Given the description of an element on the screen output the (x, y) to click on. 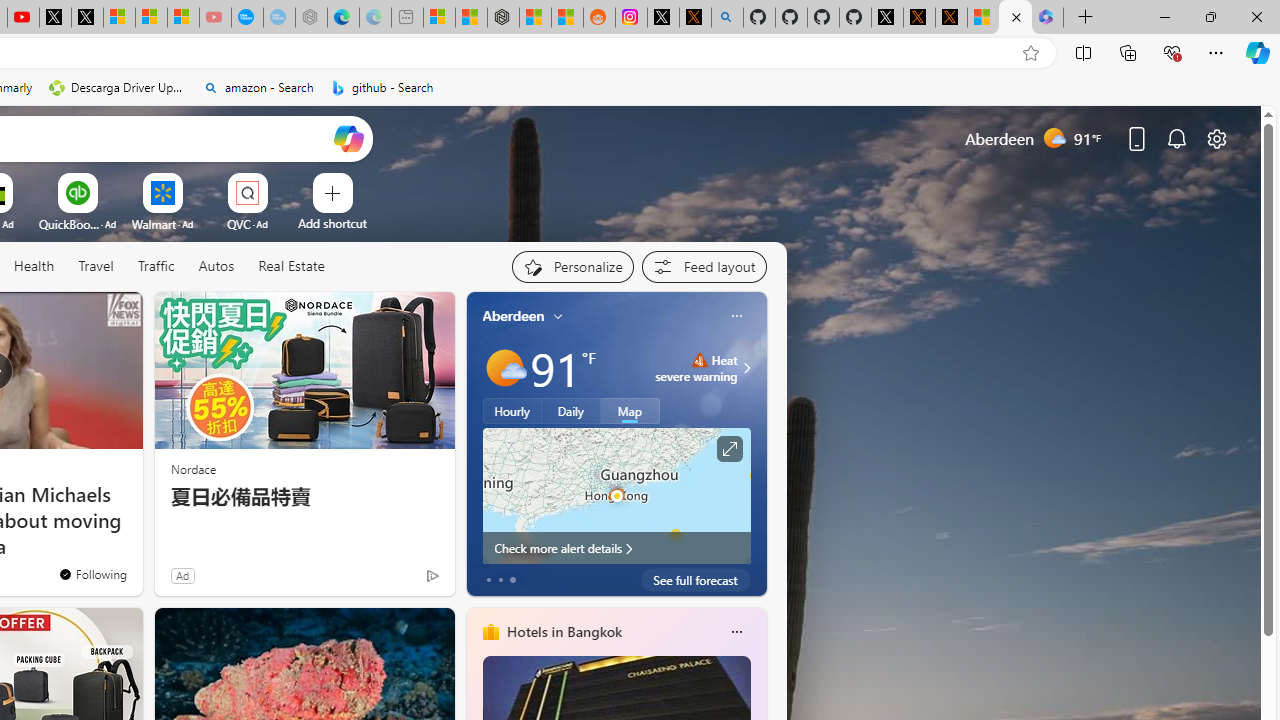
help.x.com | 524: A timeout occurred (694, 17)
Health (33, 267)
The most popular Google 'how to' searches - Sleeping (279, 17)
Shanghai, China Weather trends | Microsoft Weather (566, 17)
Microsoft account | Microsoft Account Privacy Settings (438, 17)
You're following FOX News (92, 573)
tab-0 (488, 579)
Mostly sunny (504, 368)
hotels-header-icon (490, 632)
